Given the description of an element on the screen output the (x, y) to click on. 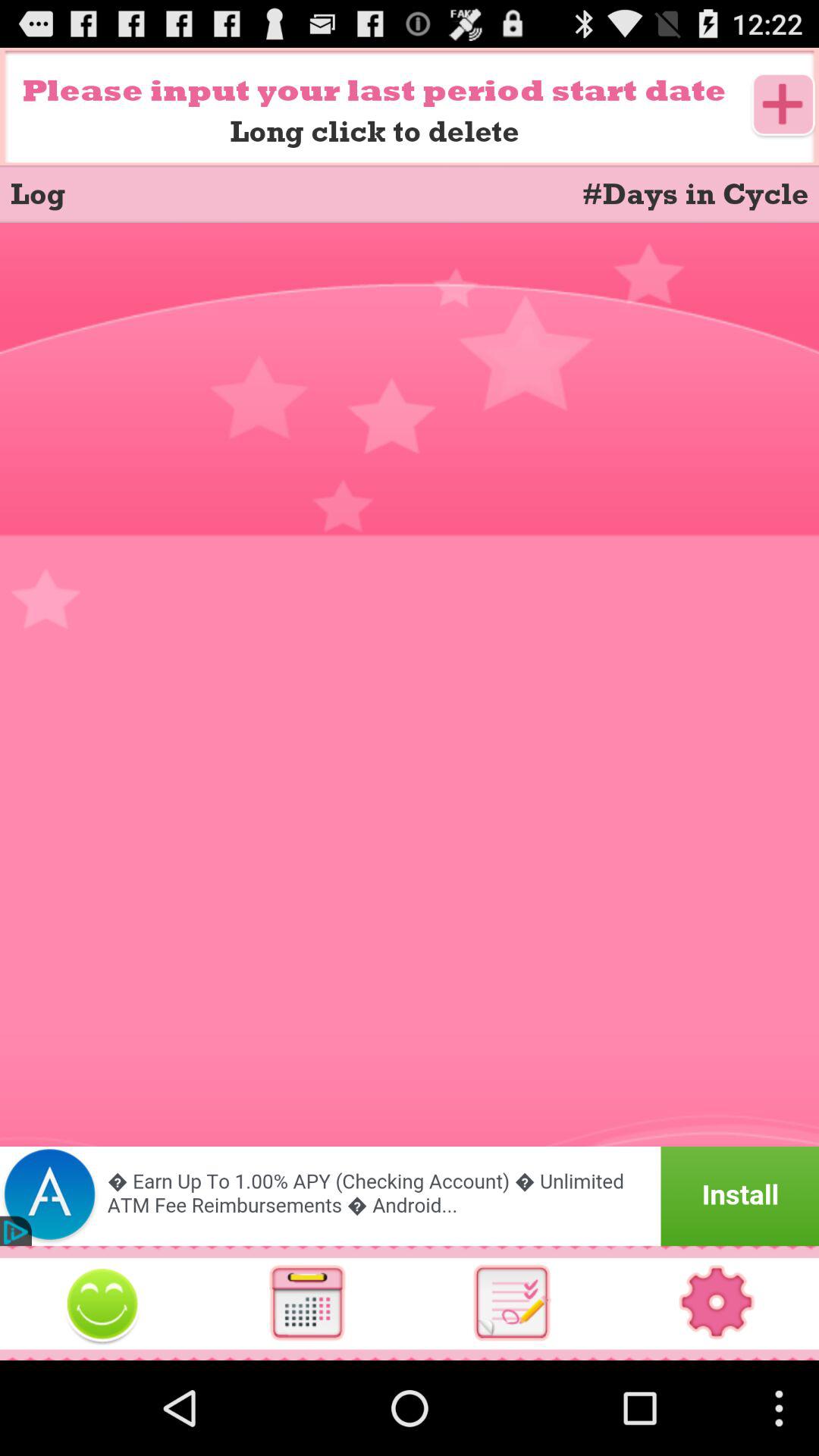
save annotations (511, 1302)
